Given the description of an element on the screen output the (x, y) to click on. 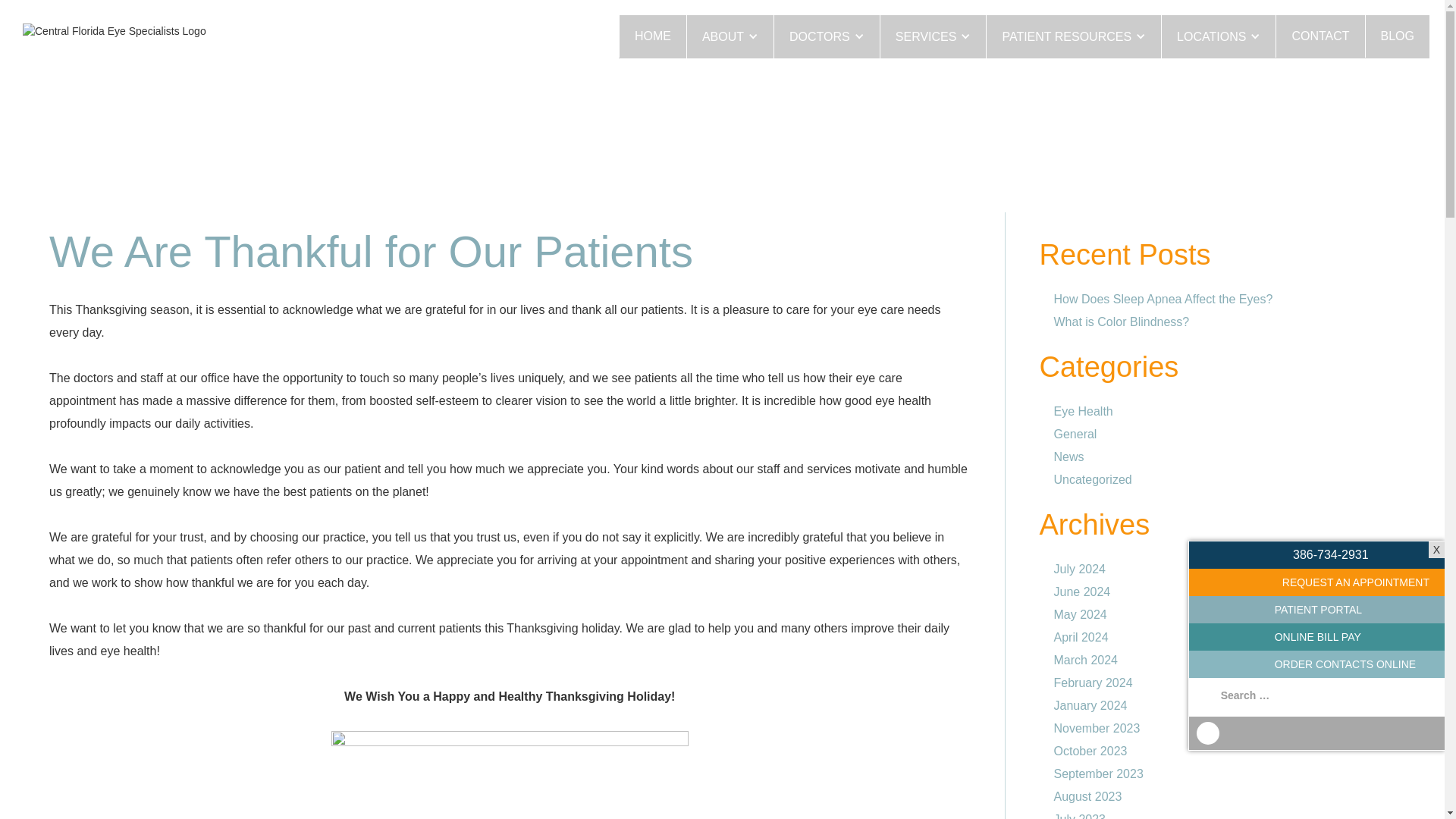
HOME (651, 36)
Doctors (826, 36)
Click to go to the Homepage (173, 30)
SERVICES (933, 36)
Home (651, 36)
DOCTORS (826, 36)
Services (933, 36)
About (729, 36)
ABOUT (729, 36)
PATIENT RESOURCES (1072, 36)
